Given the description of an element on the screen output the (x, y) to click on. 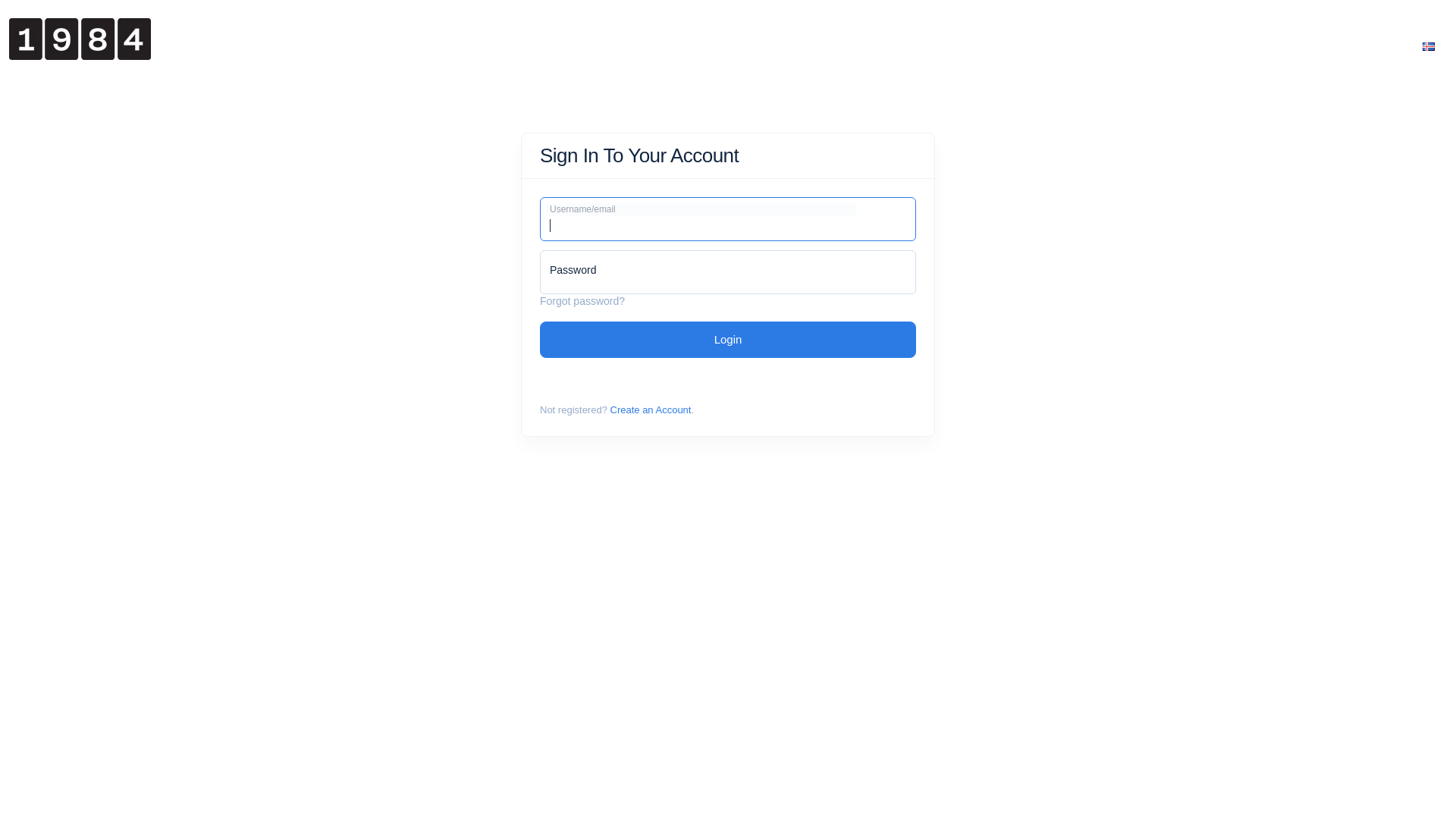
Forgot password? Element type: text (581, 300)
Login Element type: text (727, 339)
Create an Account Element type: text (649, 409)
